Given the description of an element on the screen output the (x, y) to click on. 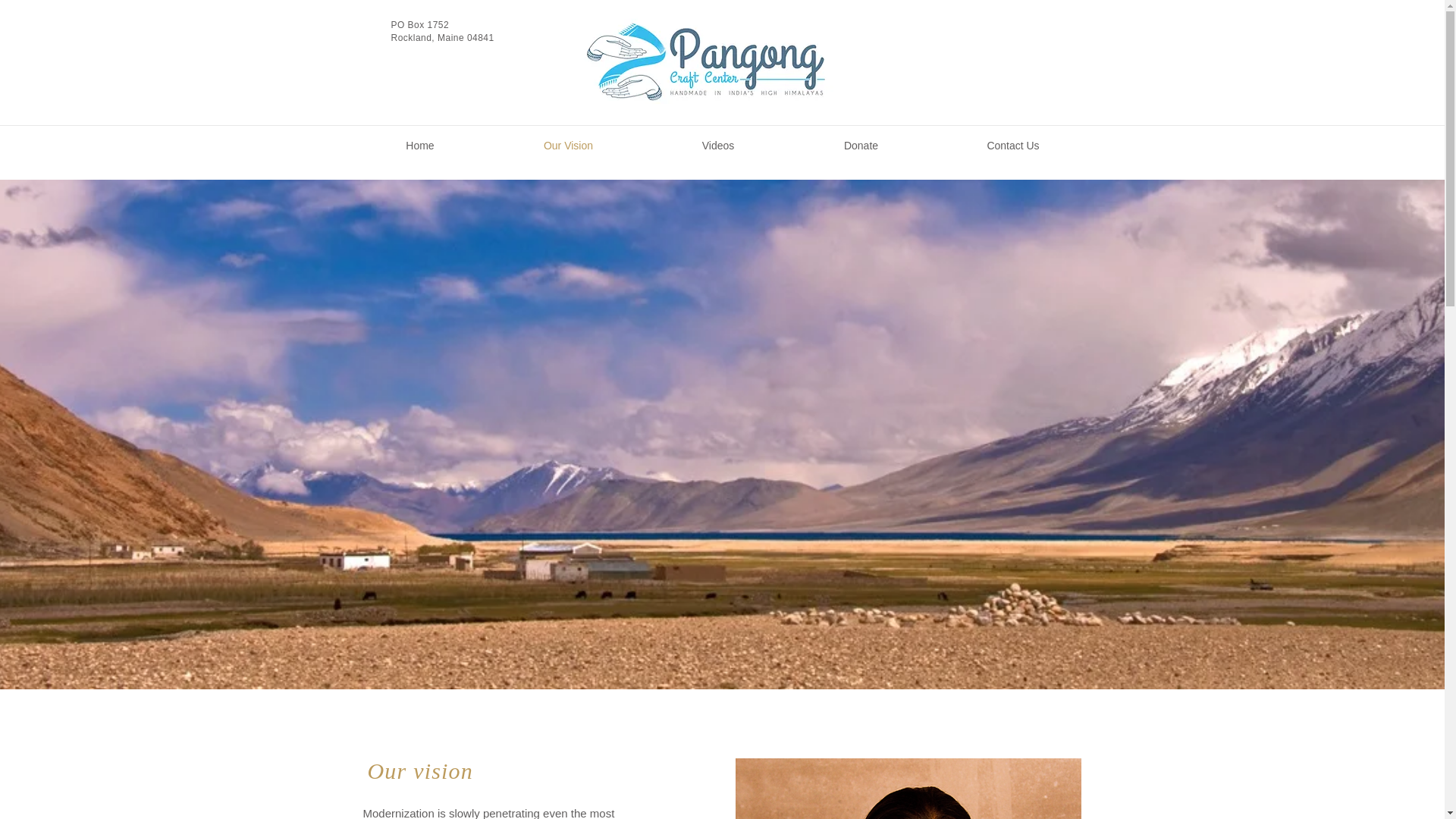
Our Vision (568, 144)
Videos (718, 144)
Contact Us (1013, 144)
Donate (861, 144)
Home (419, 144)
pangong-with-button.png (908, 788)
